Given the description of an element on the screen output the (x, y) to click on. 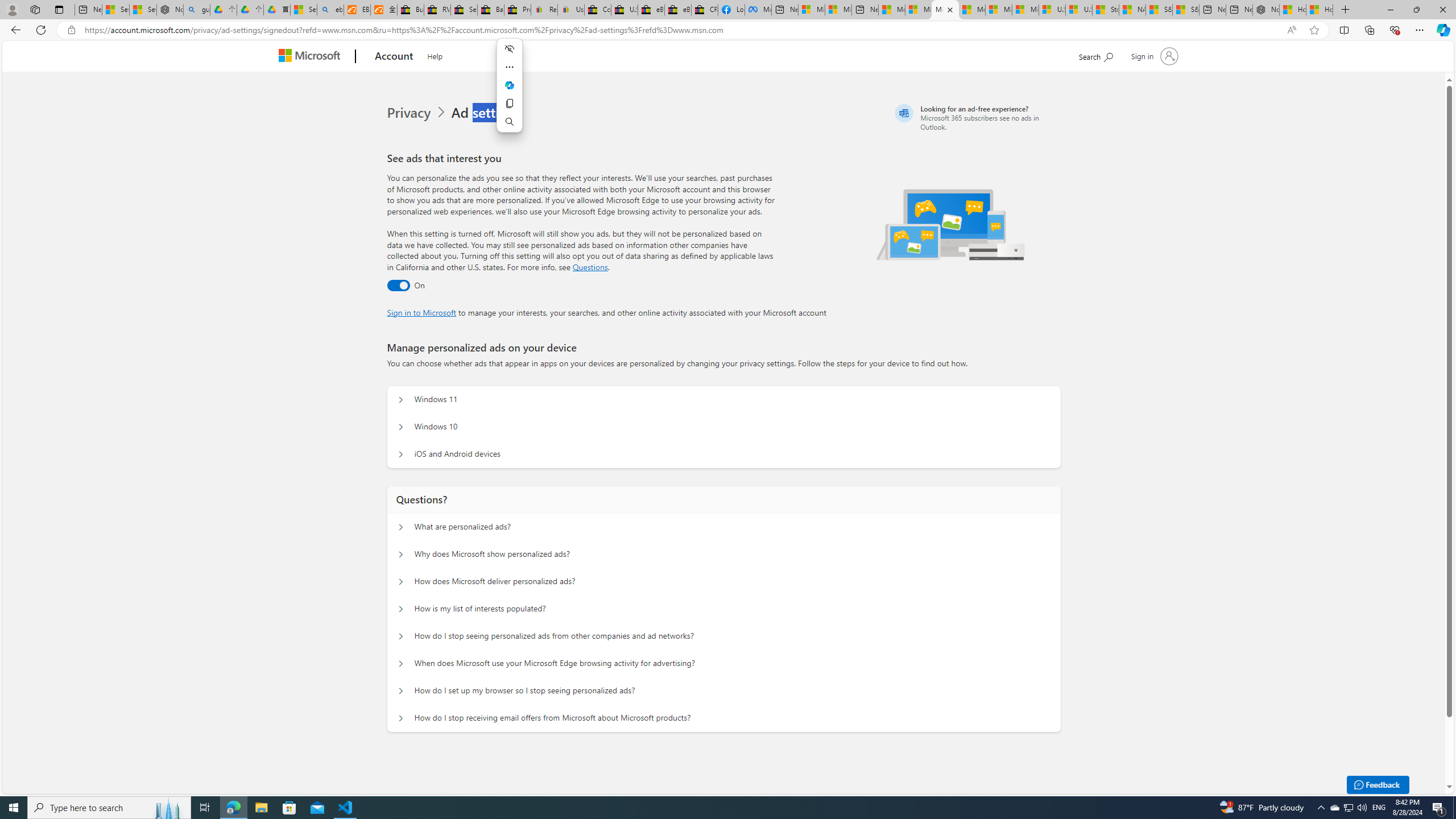
Sign in to Microsoft (422, 311)
Consumer Health Data Privacy Policy - eBay Inc. (597, 9)
Baby Keepsakes & Announcements for sale | eBay (491, 9)
Buy Auto Parts & Accessories | eBay (411, 9)
Help (435, 54)
